Given the description of an element on the screen output the (x, y) to click on. 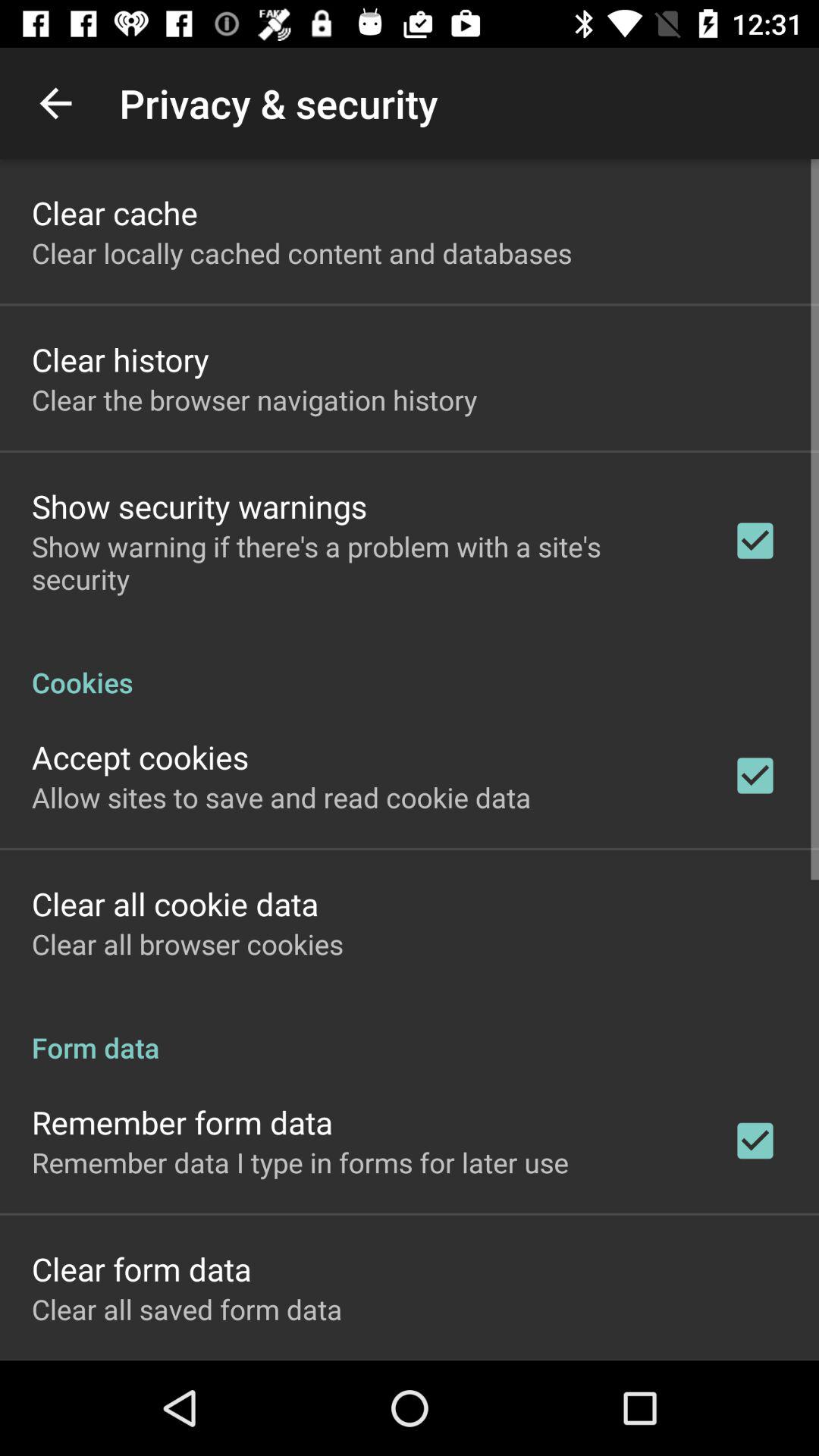
tap item above the clear locally cached icon (114, 212)
